Given the description of an element on the screen output the (x, y) to click on. 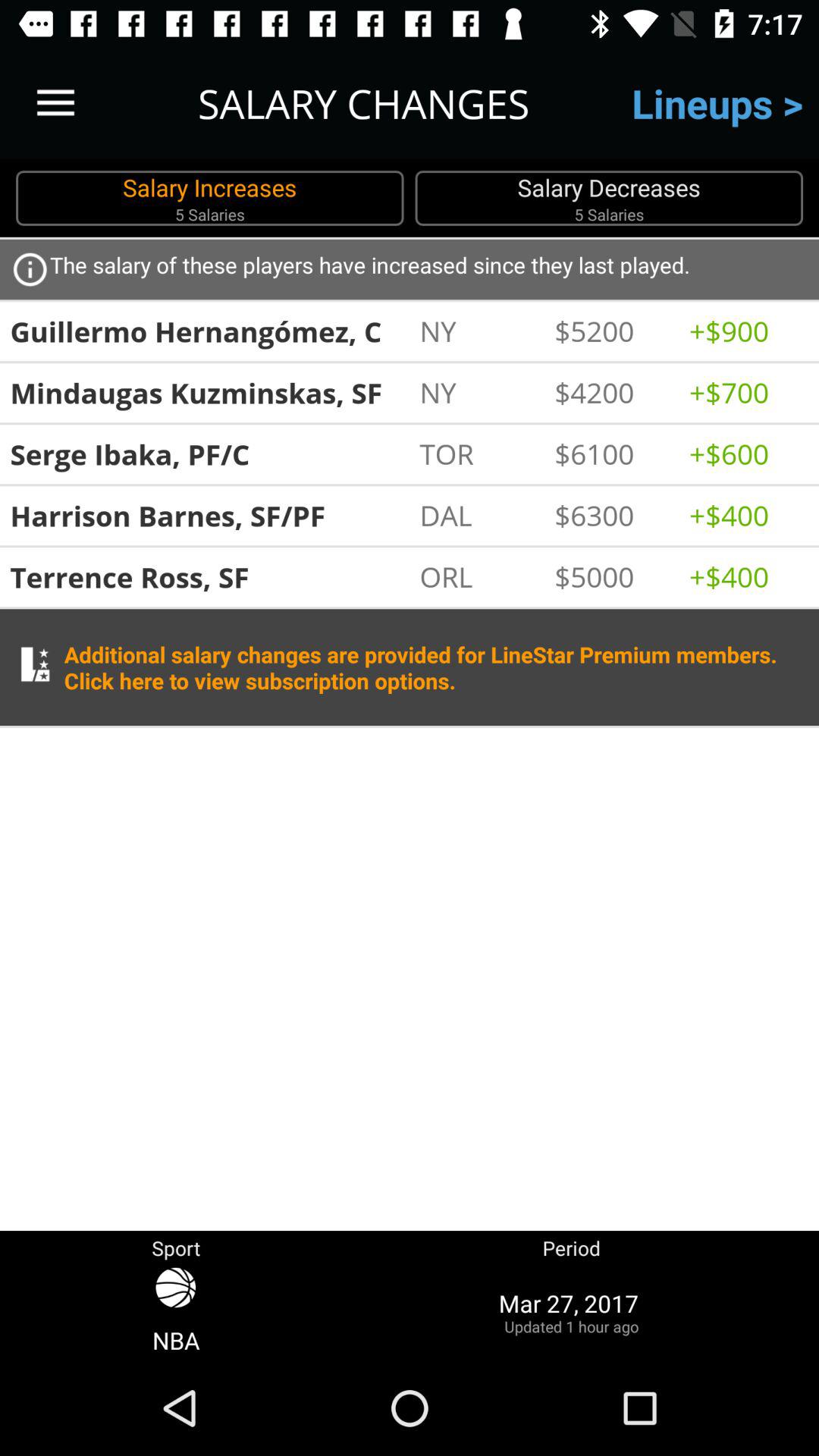
select item next to salary changes (55, 103)
